Given the description of an element on the screen output the (x, y) to click on. 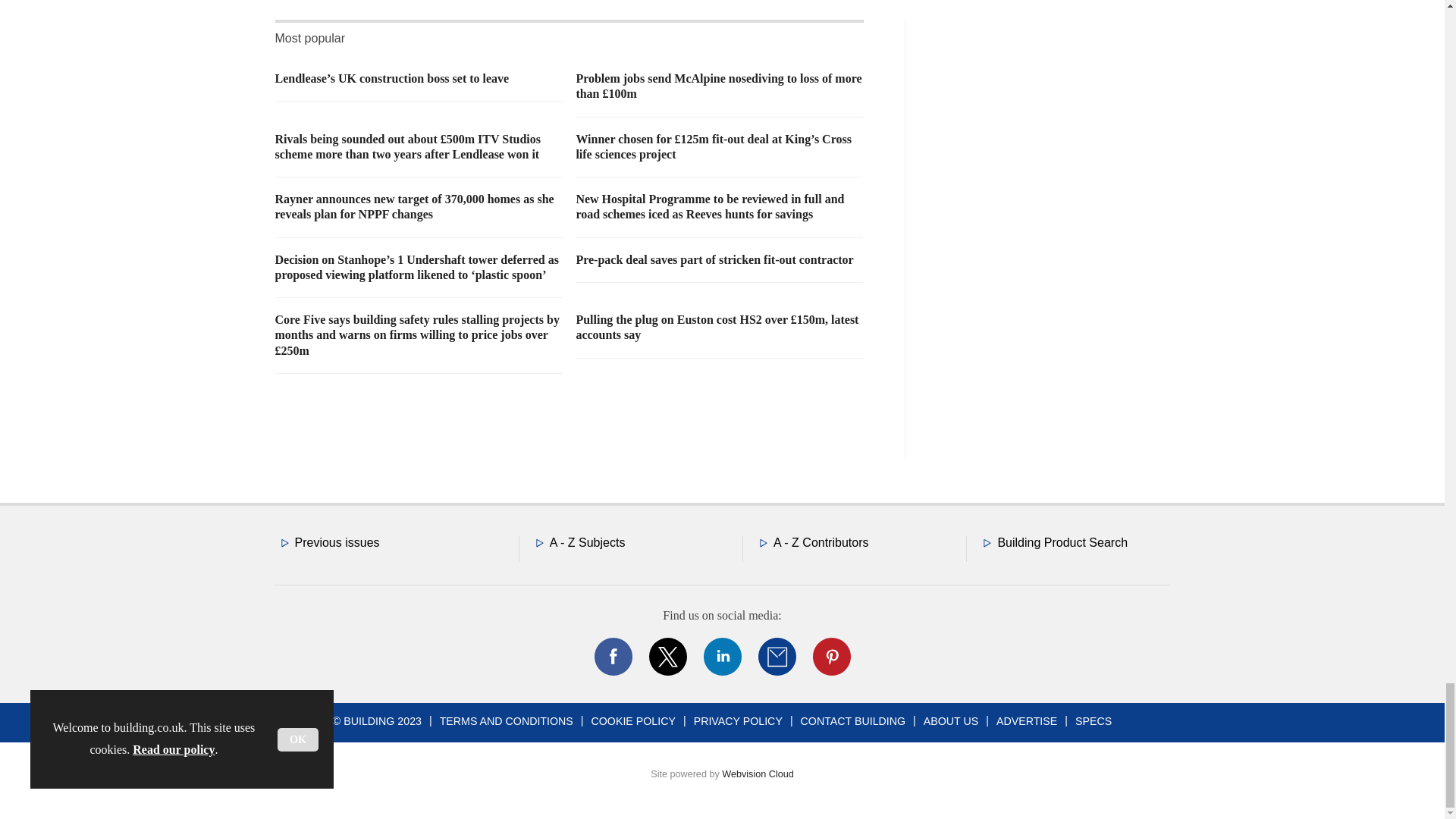
Connect with us on Twitter (667, 656)
Email us (776, 656)
Connect with us on Facebook (611, 656)
Connect with us on Pinterest (830, 656)
Connect with us on Linked in (721, 656)
